Given the description of an element on the screen output the (x, y) to click on. 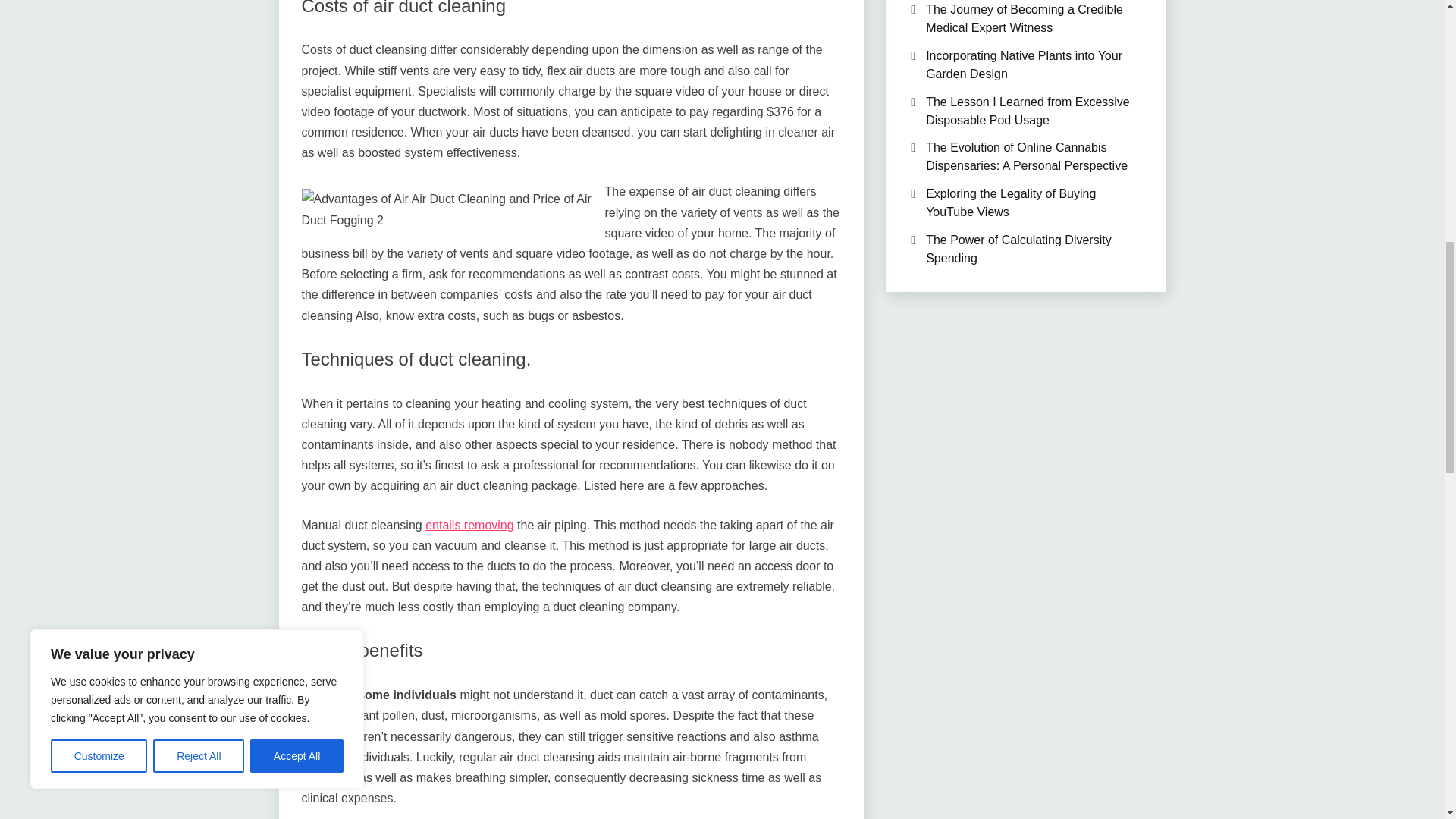
entails removing (469, 524)
